Given the description of an element on the screen output the (x, y) to click on. 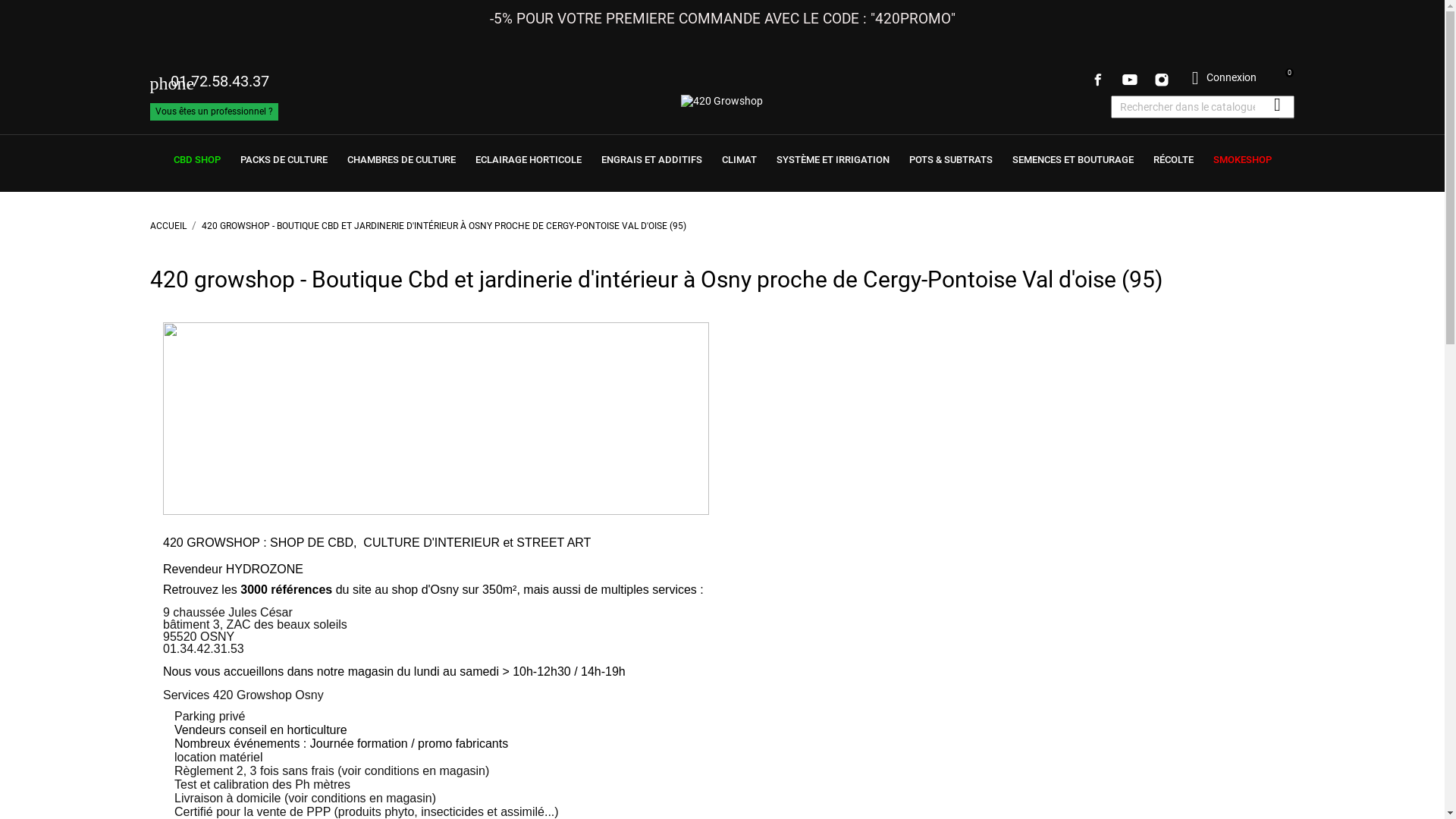
ECLAIRAGE HORTICOLE Element type: text (528, 159)
POTS & SUBTRATS Element type: text (950, 159)
0 Element type: text (1281, 78)
CHAMBRES DE CULTURE Element type: text (400, 159)
CBD SHOP Element type: text (196, 159)
ENGRAIS ET ADDITIFS Element type: text (651, 159)
SEMENCES ET BOUTURAGE Element type: text (1072, 159)
CLIMAT Element type: text (738, 159)
ACCUEIL Element type: text (169, 225)
SMOKESHOP Element type: text (1241, 159)
PACKS DE CULTURE Element type: text (283, 159)
